Given the description of an element on the screen output the (x, y) to click on. 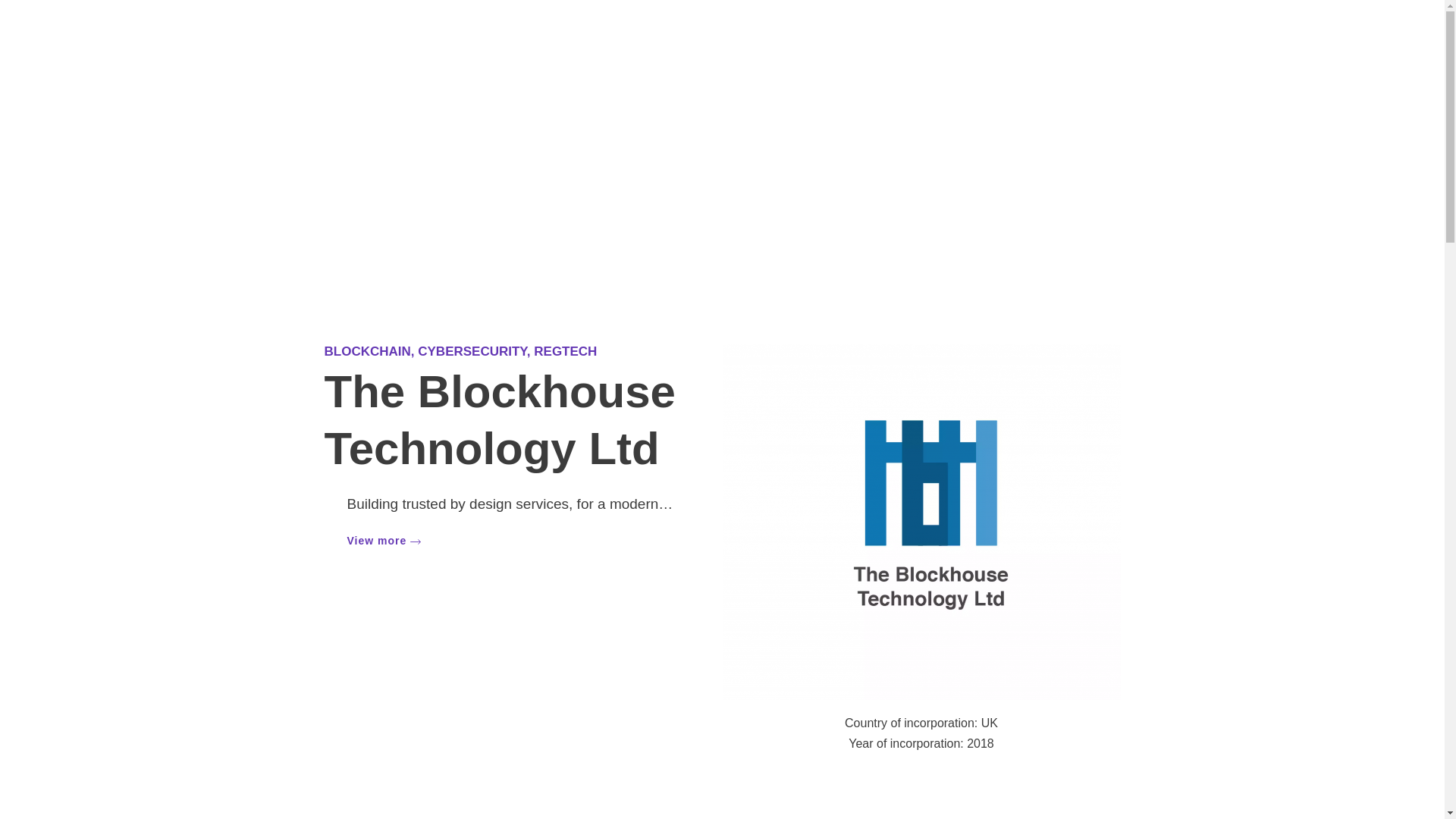
CYBERSECURITY (472, 350)
REGTECH (565, 350)
View more (384, 540)
BLOCKCHAIN (367, 350)
